Given the description of an element on the screen output the (x, y) to click on. 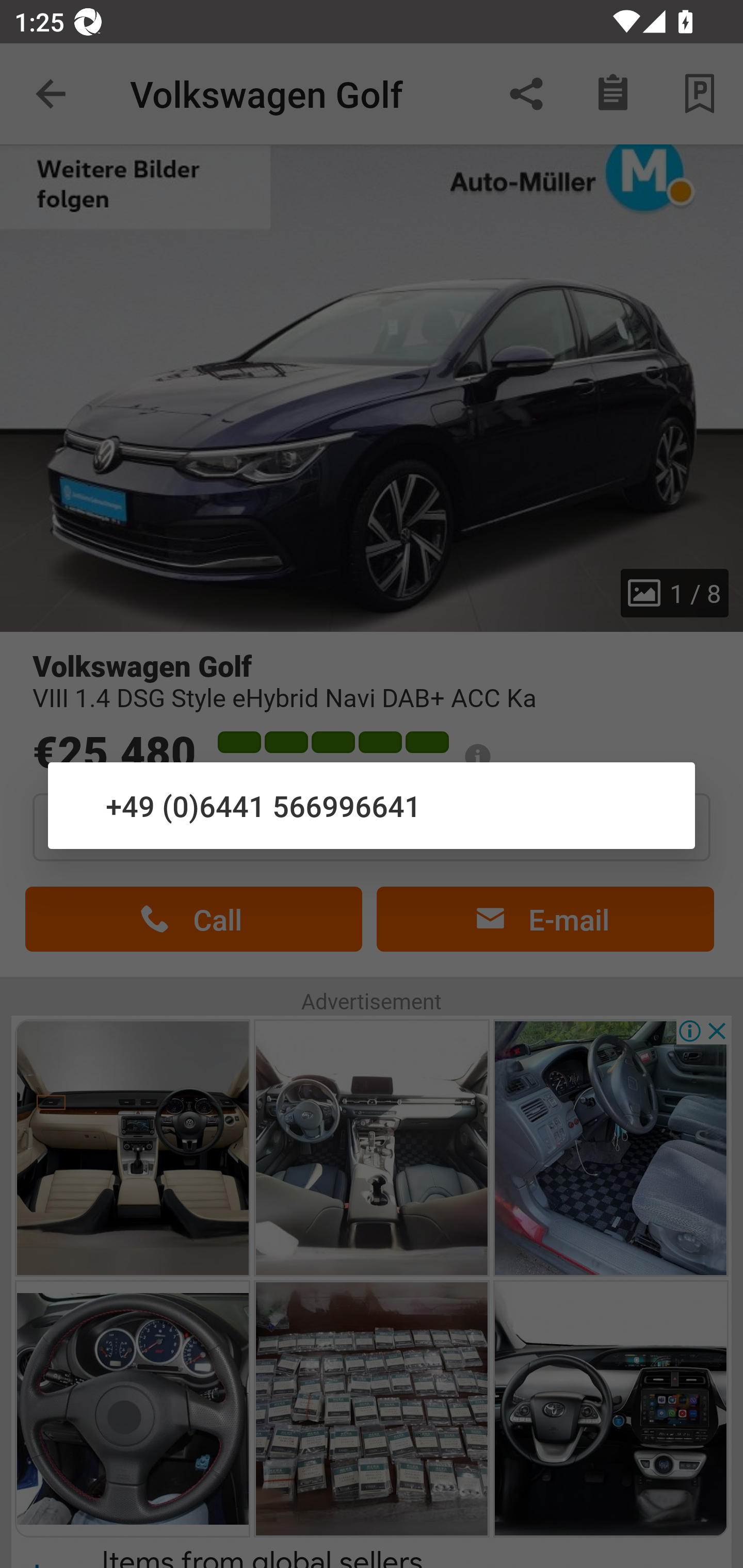
+49 (0)6441 566996641 (371, 805)
